Given the description of an element on the screen output the (x, y) to click on. 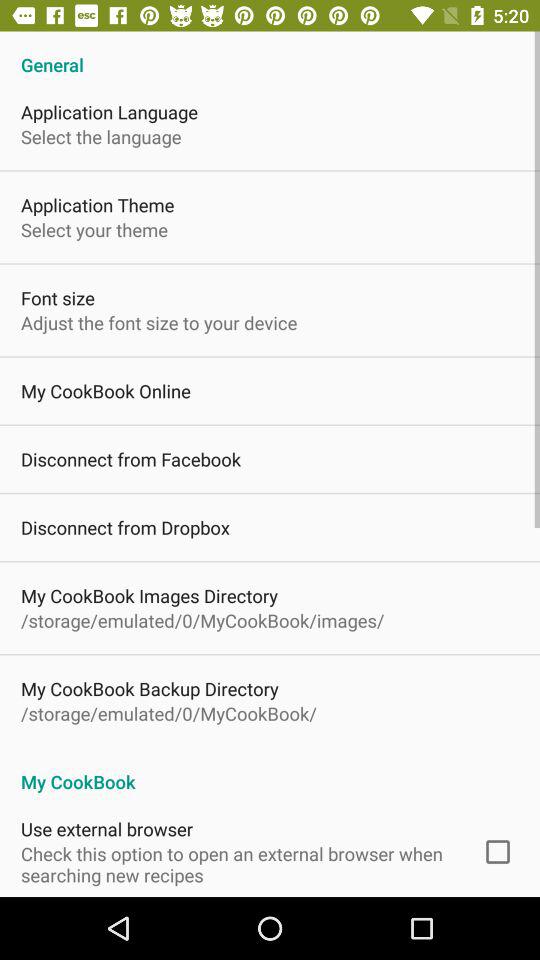
open app below the general (109, 111)
